Given the description of an element on the screen output the (x, y) to click on. 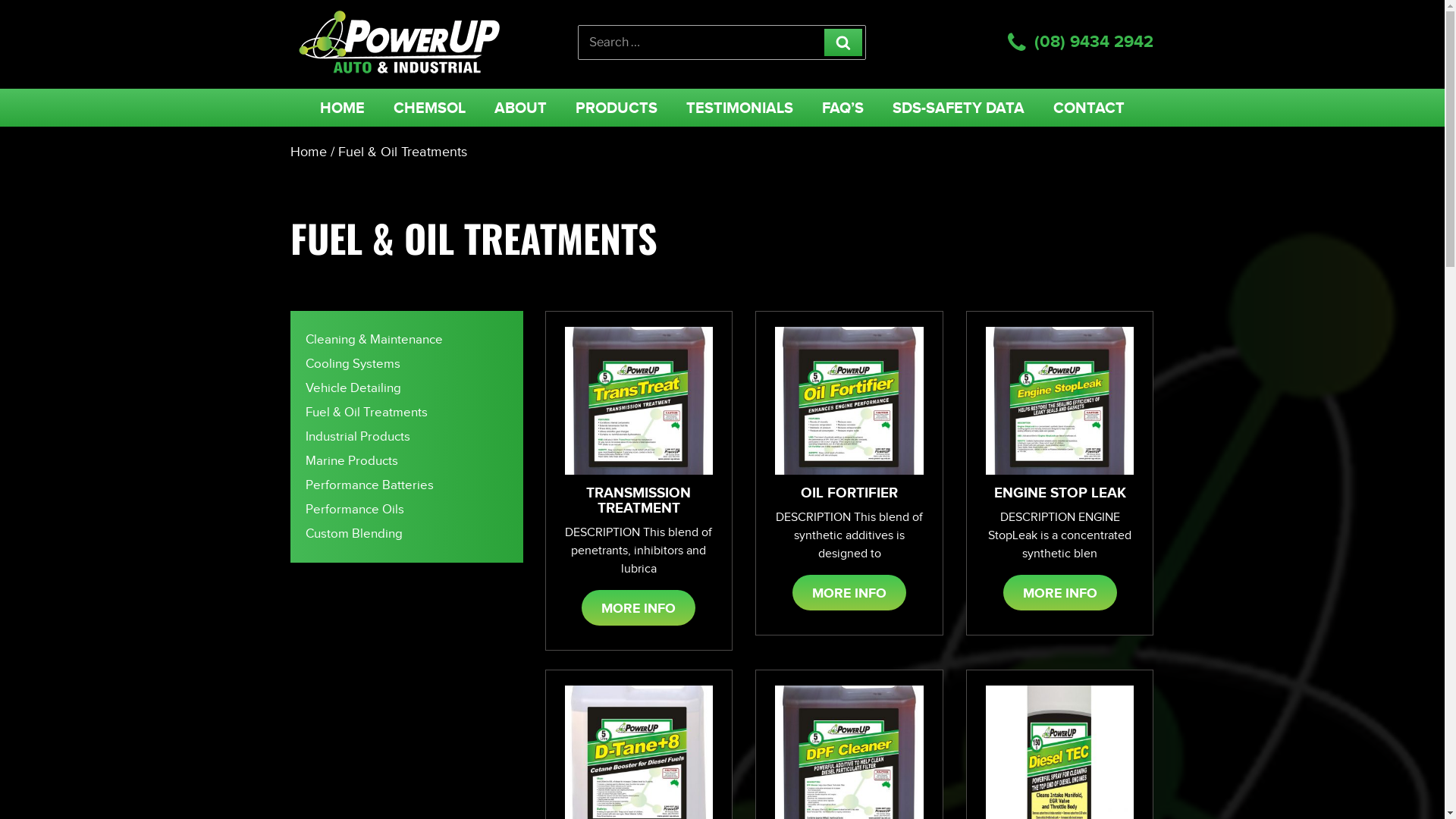
PRODUCTS Element type: text (616, 108)
Custom Blending Element type: text (352, 533)
Home Element type: text (307, 152)
TESTIMONIALS Element type: text (739, 108)
MORE INFO Element type: text (1060, 592)
Cleaning & Maintenance Element type: text (373, 339)
Marine Products Element type: text (350, 460)
(08) 9434 2942 Element type: text (1093, 42)
SDS-SAFETY DATA Element type: text (958, 108)
Fuel & Oil Treatments Element type: text (365, 412)
ABOUT Element type: text (520, 108)
Cooling Systems Element type: text (351, 363)
HOME Element type: text (342, 108)
Vehicle Detailing Element type: text (352, 387)
Performance Batteries Element type: text (368, 484)
MORE INFO Element type: text (849, 592)
Performance Oils Element type: text (353, 509)
Industrial Products Element type: text (356, 436)
CHEMSOL Element type: text (429, 108)
MORE INFO Element type: text (638, 607)
CONTACT Element type: text (1088, 108)
Search Element type: text (843, 42)
